Given the description of an element on the screen output the (x, y) to click on. 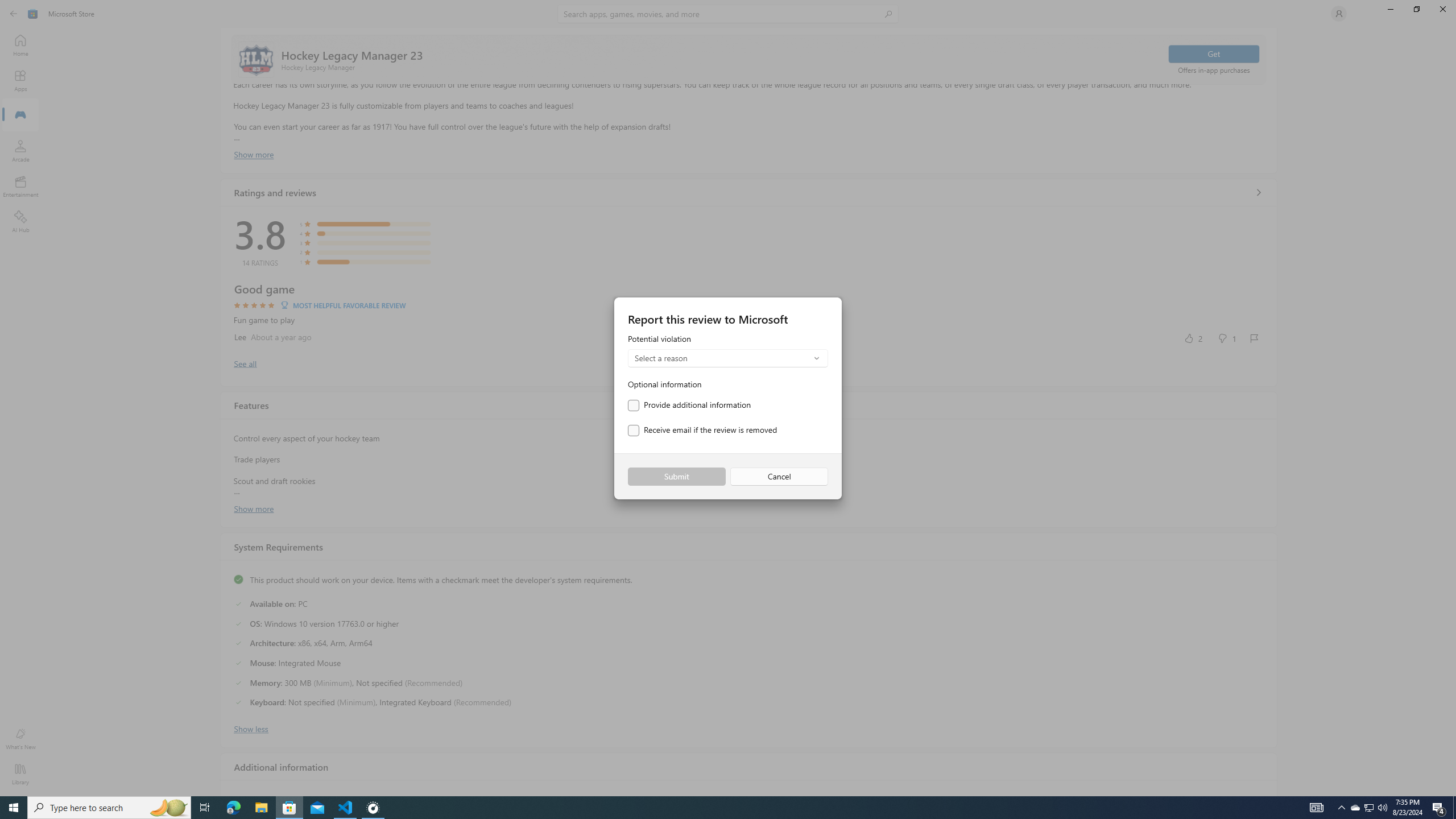
Report review (1253, 338)
Minimize Microsoft Store (1390, 9)
Yes, this was helpful. 2 votes. (1192, 338)
Review by Lee. Rated 5 out of five stars. Good game. (748, 313)
What's New (20, 738)
No, this was not helpful. 1 votes. (1226, 338)
Get (1213, 53)
AutomationID: NavigationControl (728, 398)
Back (13, 13)
Search (727, 13)
Provide additional information (689, 405)
Arcade (20, 150)
Receive email if the review is removed (702, 430)
Show less (250, 728)
